Given the description of an element on the screen output the (x, y) to click on. 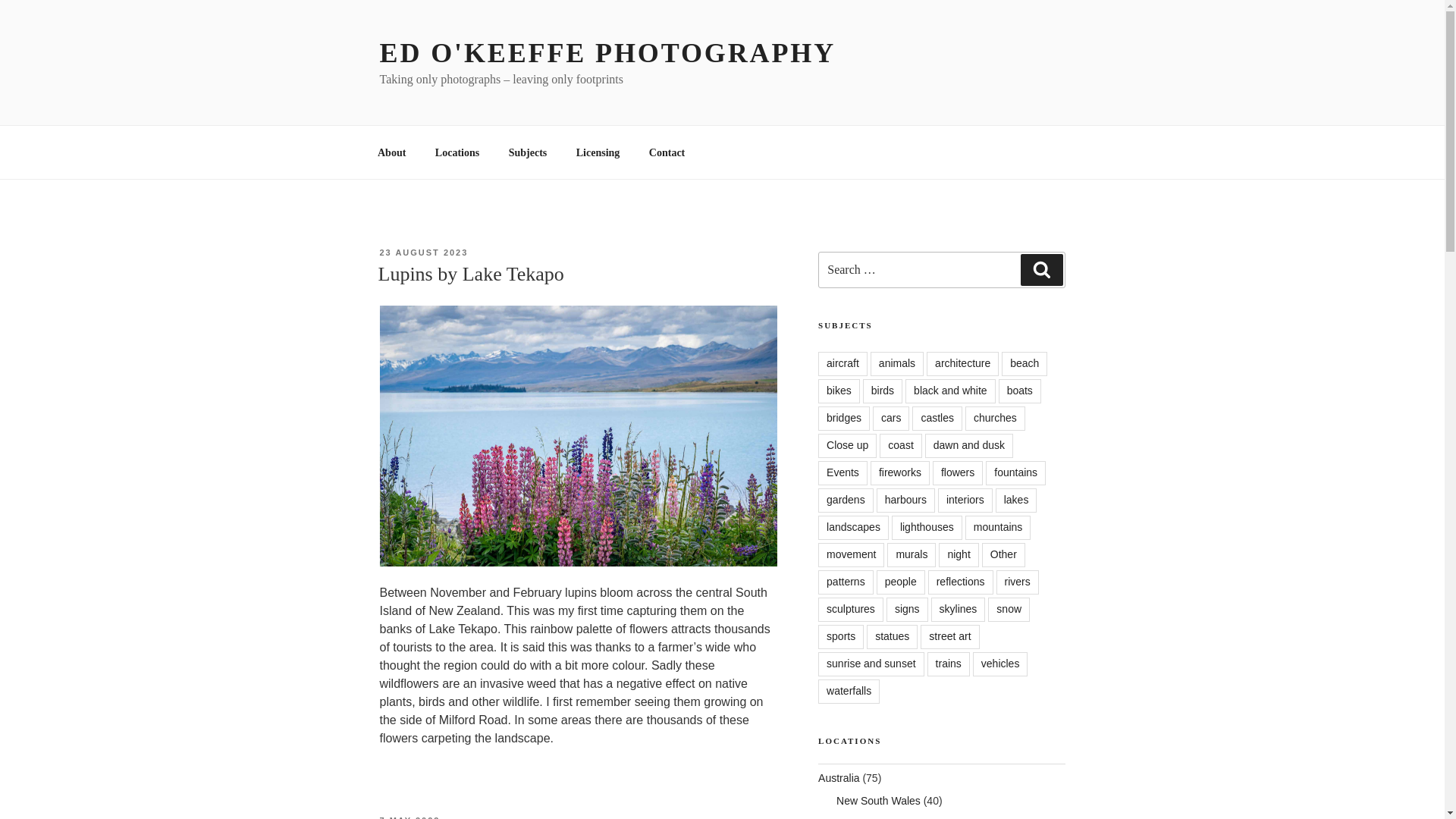
dawn and dusk (968, 445)
23 AUGUST 2023 (422, 252)
animals (896, 363)
About (391, 151)
Subjects (527, 151)
Locations (457, 151)
Search (1041, 269)
Licensing (597, 151)
castles (937, 418)
birds (882, 391)
